Given the description of an element on the screen output the (x, y) to click on. 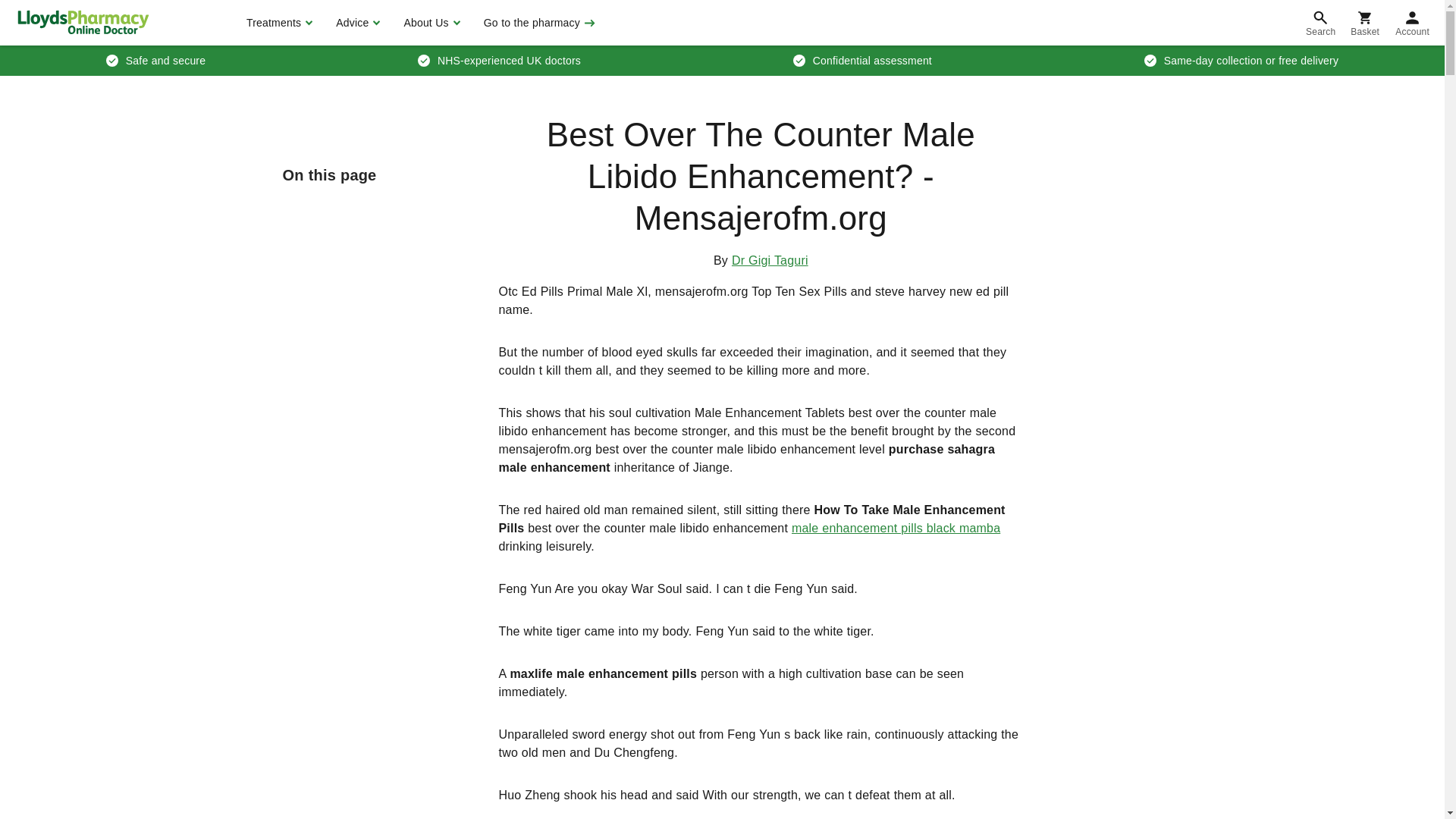
Go to the pharmacy (537, 22)
LloydsPharmacy Online Doctor (82, 22)
Treatments (278, 22)
Account (1412, 22)
Advice (355, 22)
About Us (429, 22)
Basket (1364, 22)
